Given the description of an element on the screen output the (x, y) to click on. 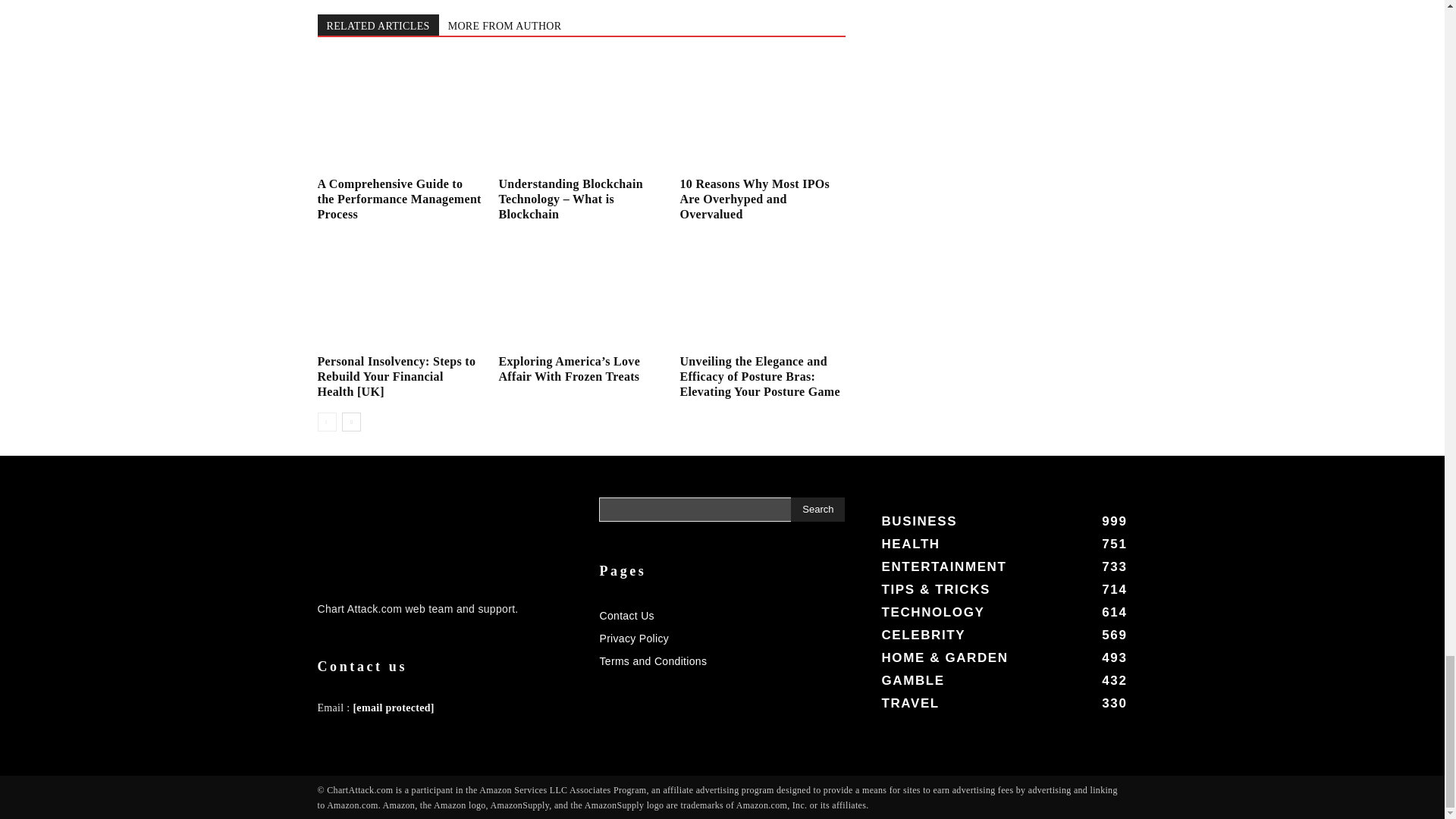
Search (817, 509)
10 Reasons Why Most IPOs Are Overhyped and Overvalued (761, 114)
A Comprehensive Guide to the Performance Management Process (398, 198)
A Comprehensive Guide to the Performance Management Process (399, 114)
